Given the description of an element on the screen output the (x, y) to click on. 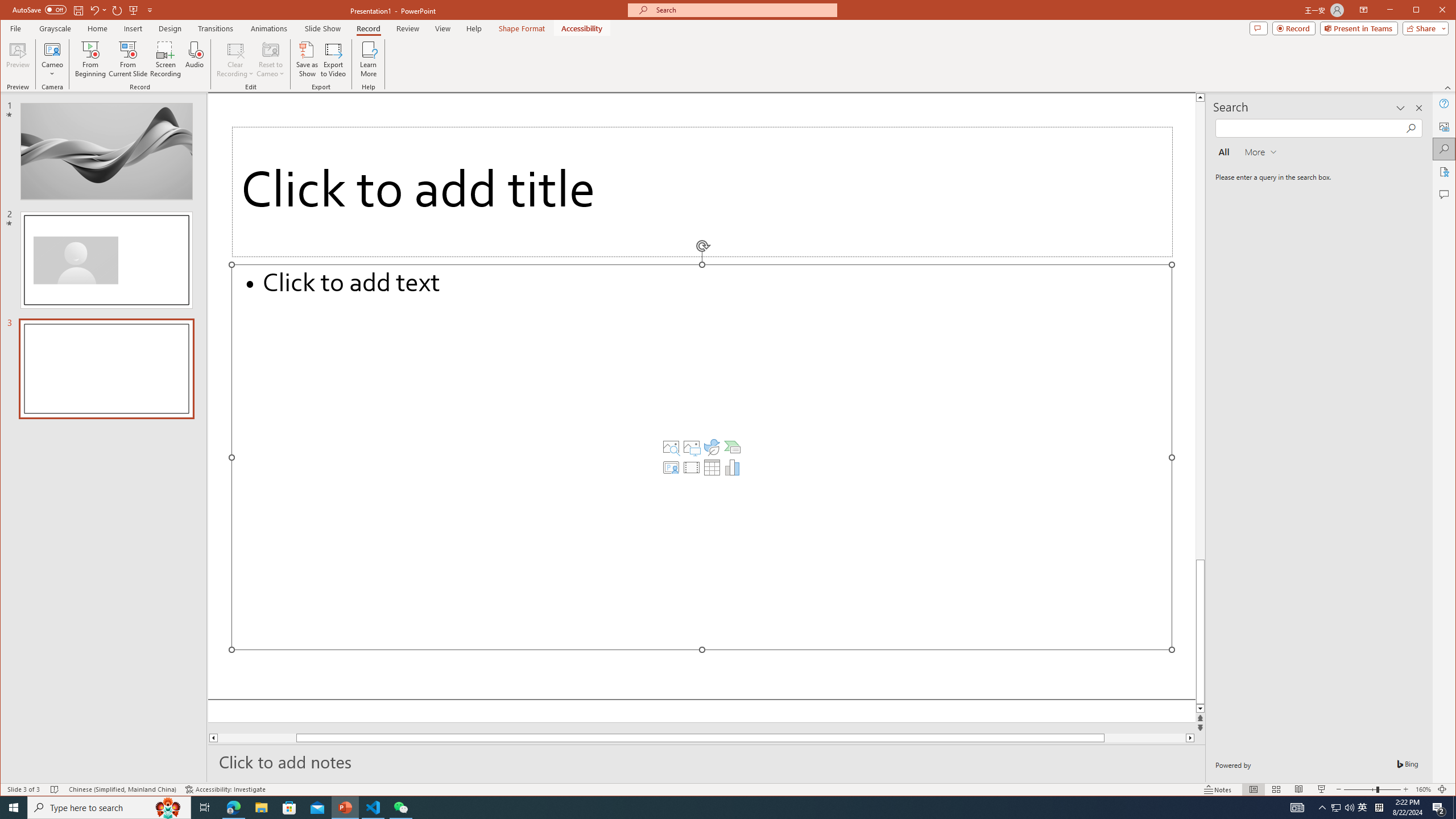
Screen Recording (165, 59)
